Given the description of an element on the screen output the (x, y) to click on. 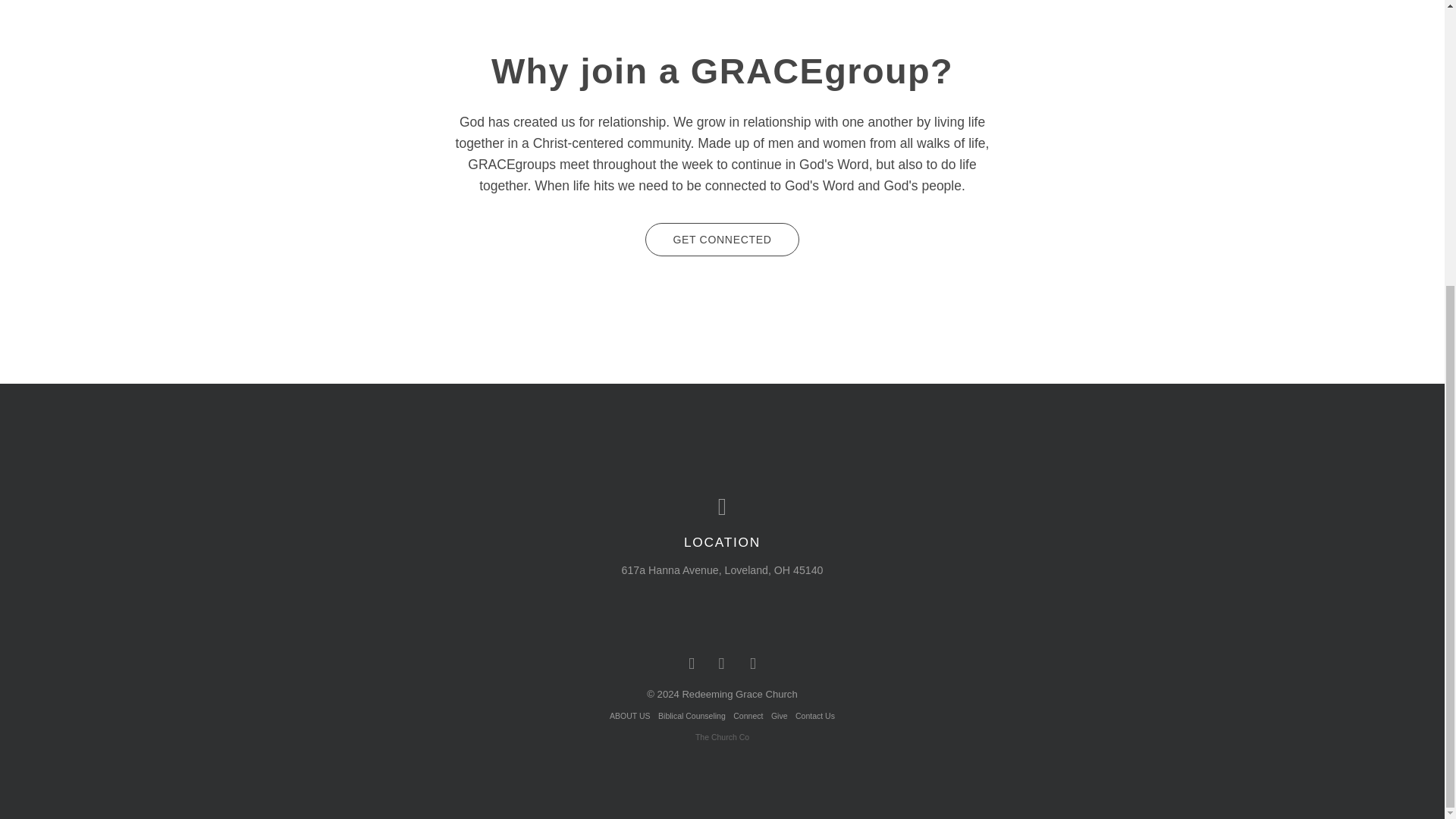
ABOUT US (629, 715)
Contact Us (814, 715)
View map of our location (722, 507)
Give (779, 715)
Biblical Counseling (691, 715)
Connect (747, 715)
617a Hanna Avenue, Loveland, OH 45140 (722, 570)
The Church Co (722, 737)
GET CONNECTED (721, 239)
